Given the description of an element on the screen output the (x, y) to click on. 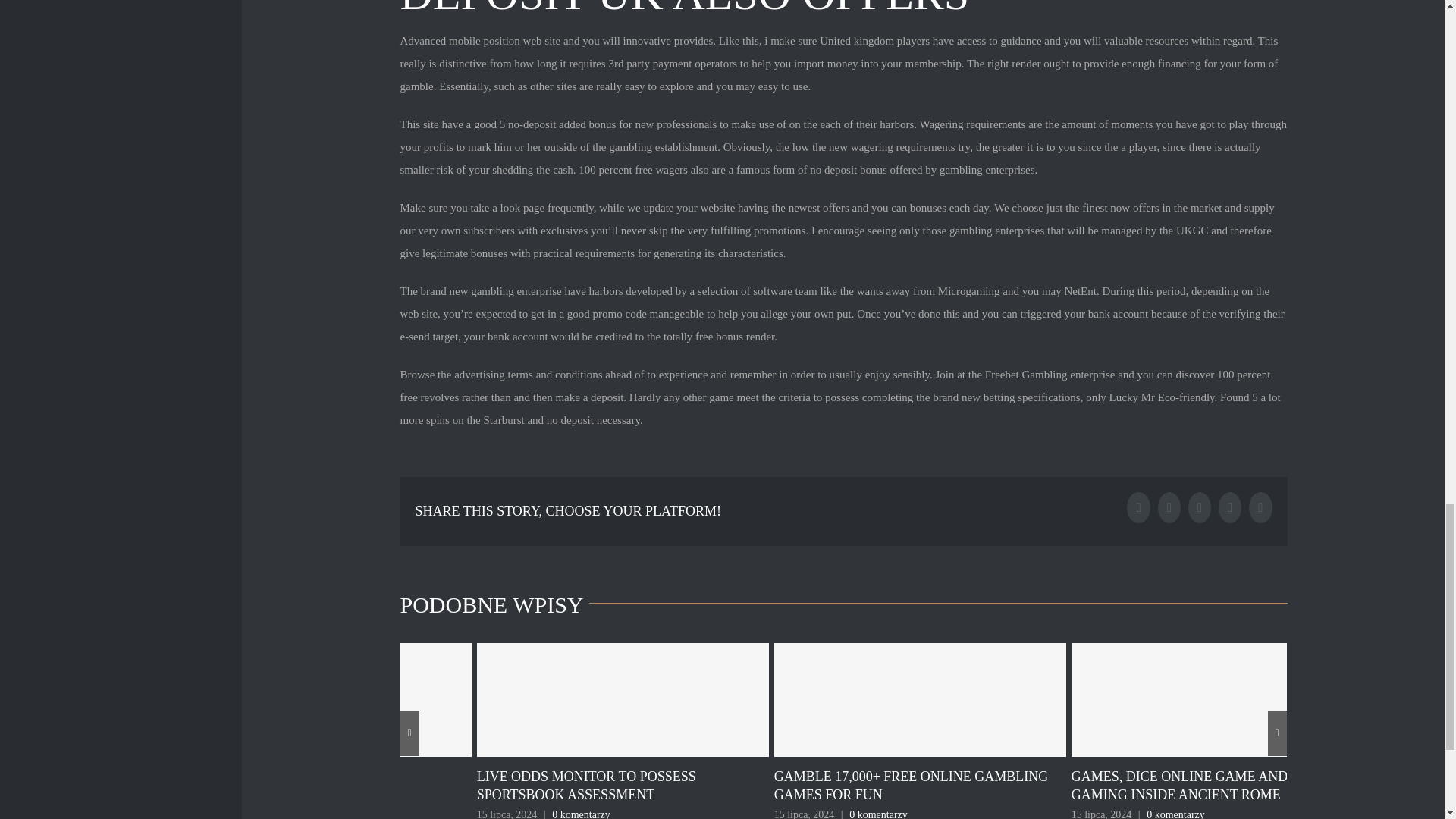
0 komentarzy (1176, 814)
Tumblr (1199, 507)
0 komentarzy (580, 814)
LIVE ODDS MONITOR TO POSSESS SPORTSBOOK ASSESSMENT (586, 785)
0 komentarzy (877, 814)
Facebook (1138, 507)
Twitter (1168, 507)
Pinterest (1260, 507)
